Given the description of an element on the screen output the (x, y) to click on. 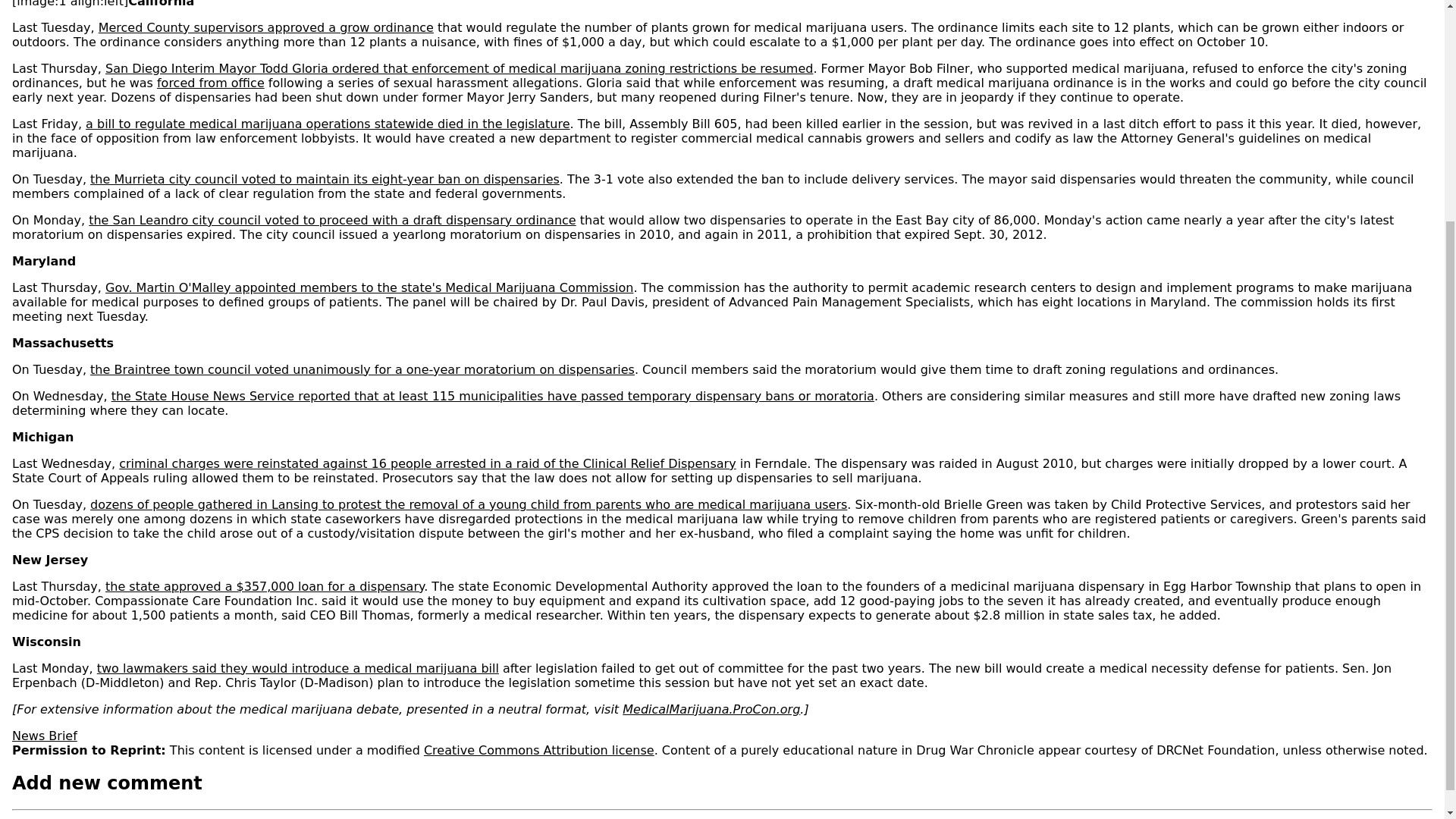
MedicalMarijuana.ProCon.org (711, 708)
News Brief (44, 735)
